Given the description of an element on the screen output the (x, y) to click on. 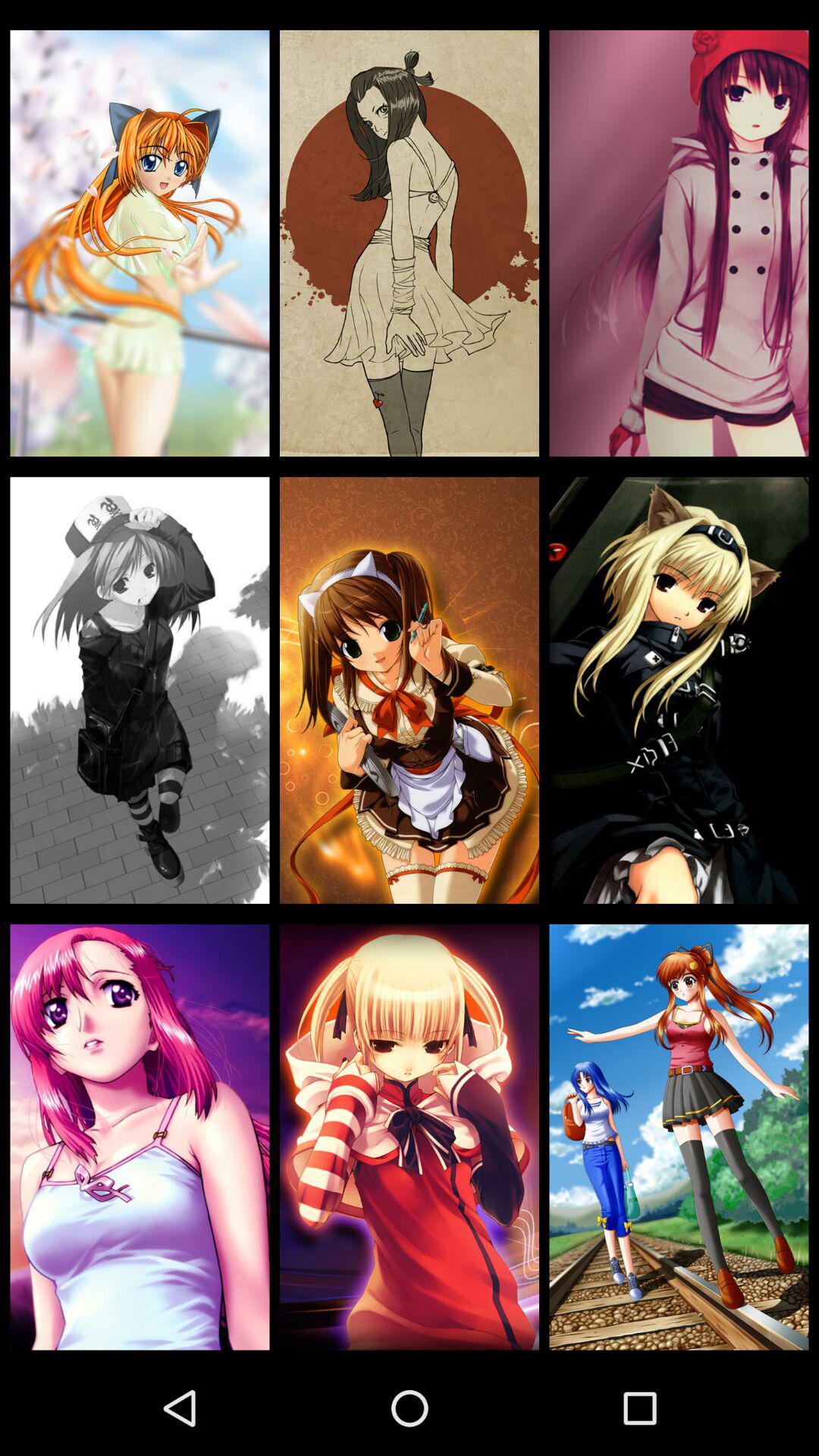
press item at the bottom (409, 1137)
